Given the description of an element on the screen output the (x, y) to click on. 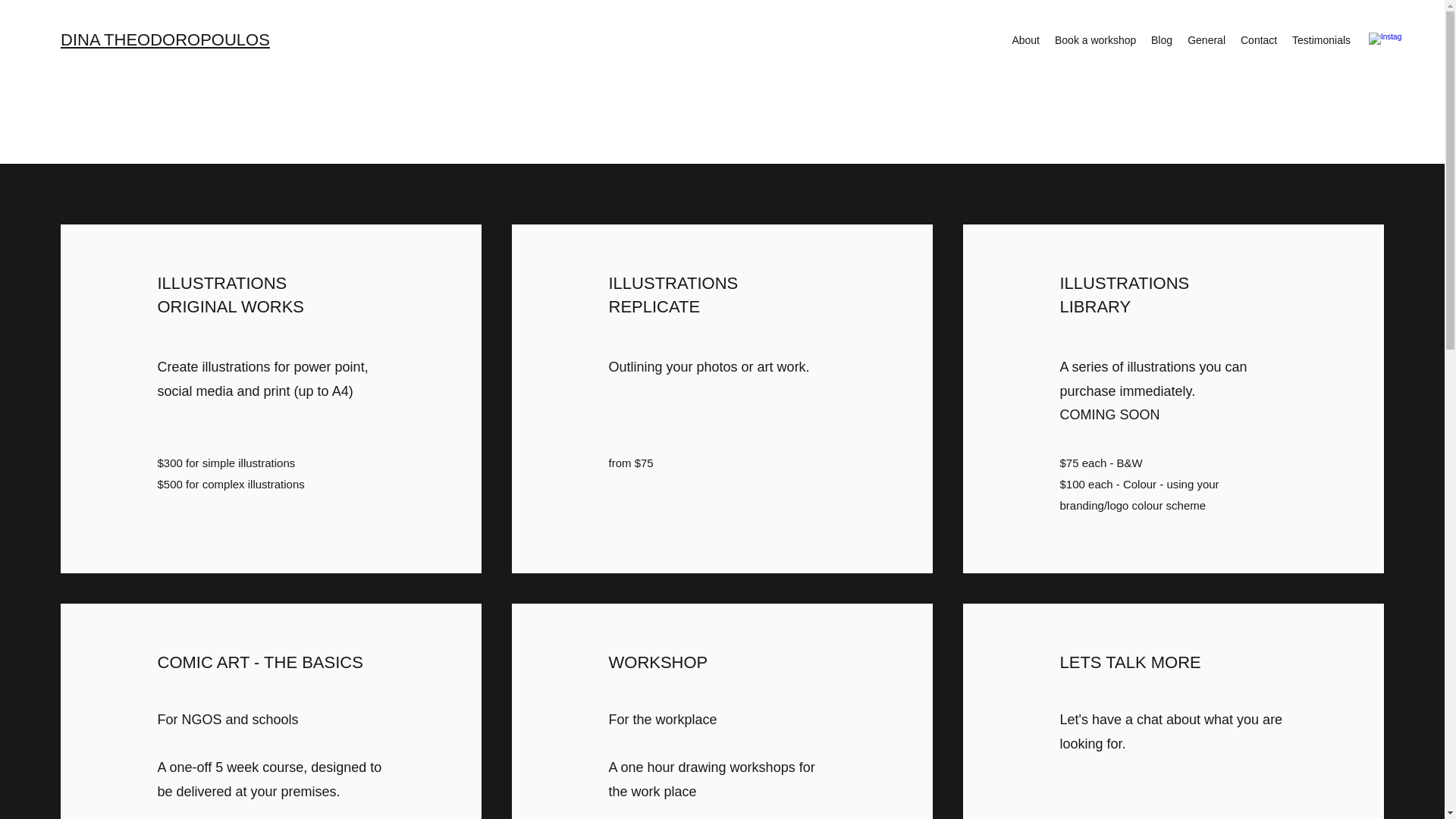
DINA THEODOROPOULOS (165, 39)
About (1025, 39)
General (1206, 39)
Blog (1160, 39)
Book a workshop (1094, 39)
Contact (1258, 39)
Testimonials (1321, 39)
